Given the description of an element on the screen output the (x, y) to click on. 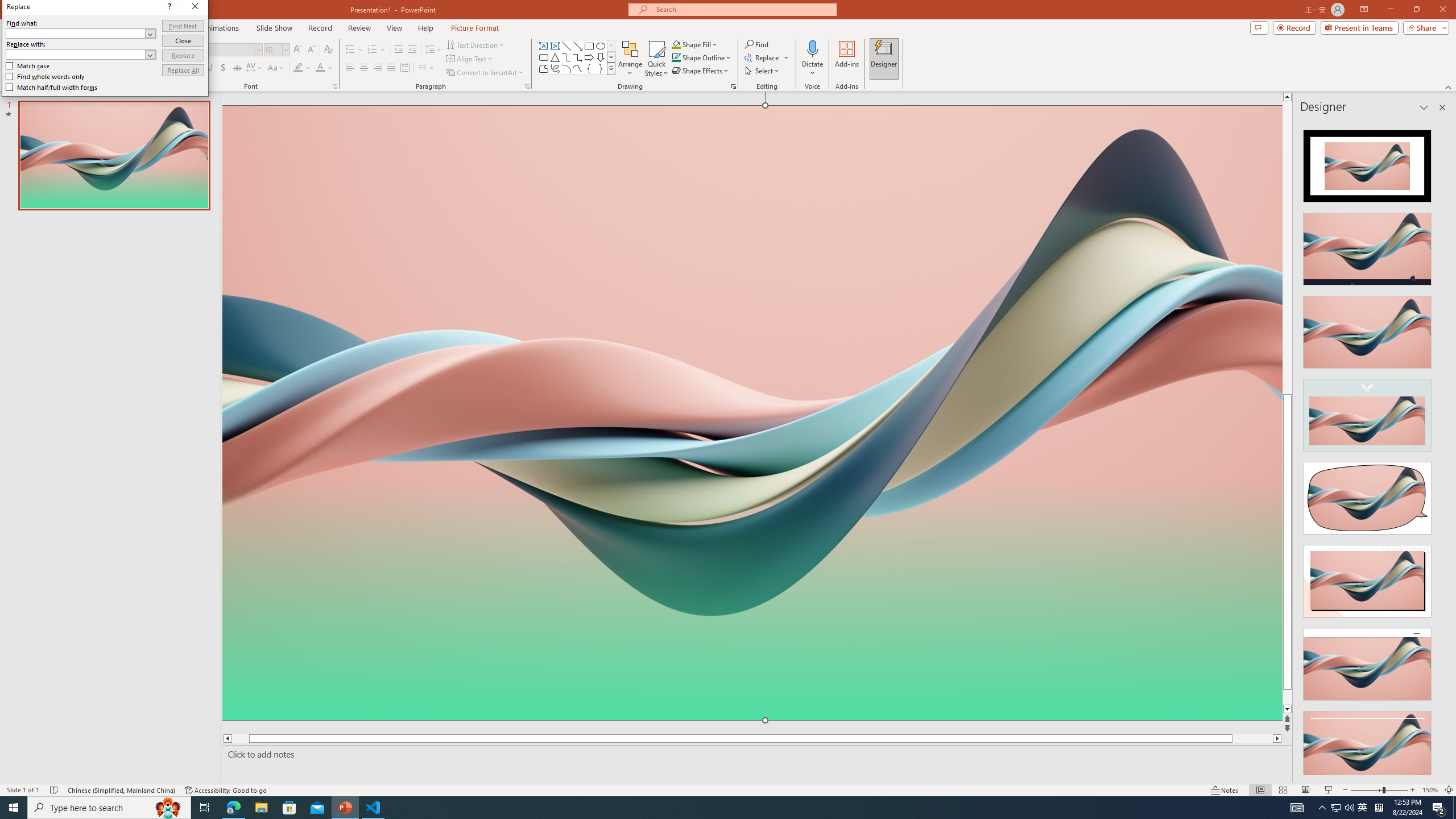
Decorative Locked (752, 579)
Replace with (320, 222)
